Given the description of an element on the screen output the (x, y) to click on. 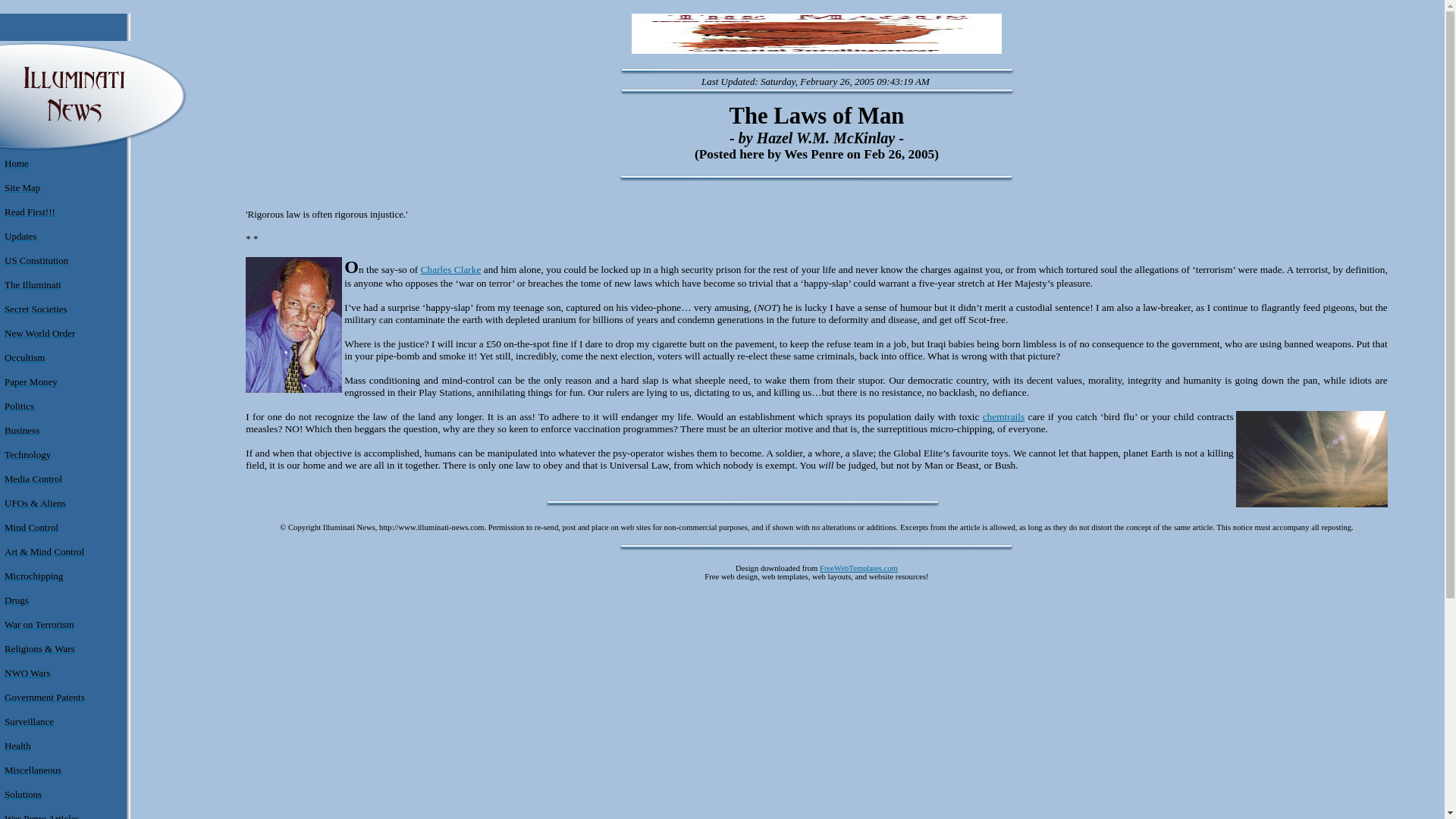
New World Order (39, 333)
Surveillance (28, 721)
Drugs (16, 600)
Health (17, 745)
Site Map (22, 187)
War on Terrorism (39, 624)
Miscellaneous (32, 769)
Secret Societies (35, 308)
Technology (27, 454)
Government Patents (44, 696)
Paper Money (31, 381)
Microchipping (33, 575)
Politics (18, 405)
Media Control (33, 478)
Occultism (24, 357)
